Given the description of an element on the screen output the (x, y) to click on. 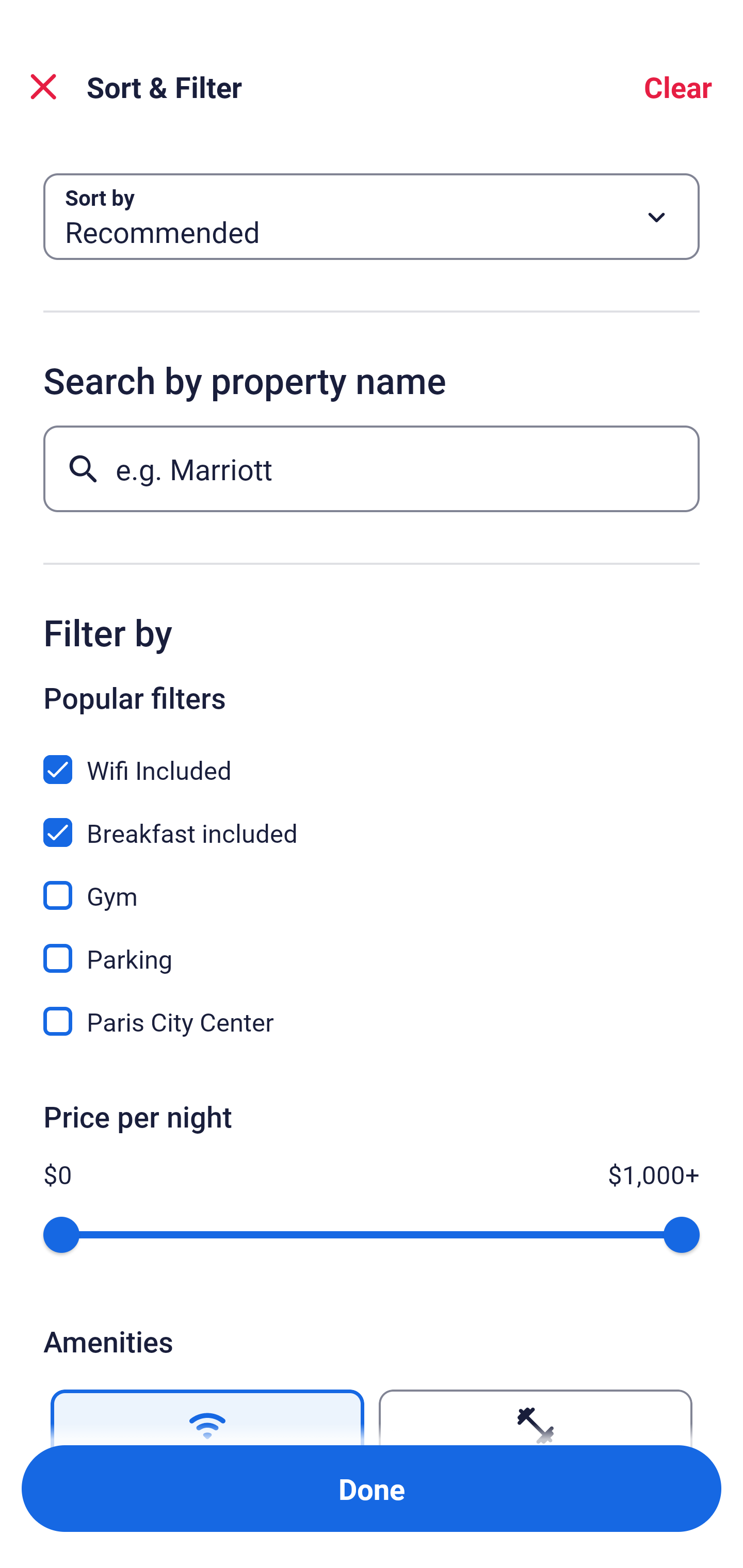
Close Sort and Filter (43, 86)
Clear (677, 86)
Sort by Button Recommended (371, 217)
e.g. Marriott Button (371, 468)
Wifi Included, Wifi Included (371, 757)
Breakfast included, Breakfast included (371, 821)
Gym, Gym (371, 883)
Parking, Parking (371, 946)
Paris City Center, Paris City Center (371, 1021)
Apply and close Sort and Filter Done (371, 1488)
